Given the description of an element on the screen output the (x, y) to click on. 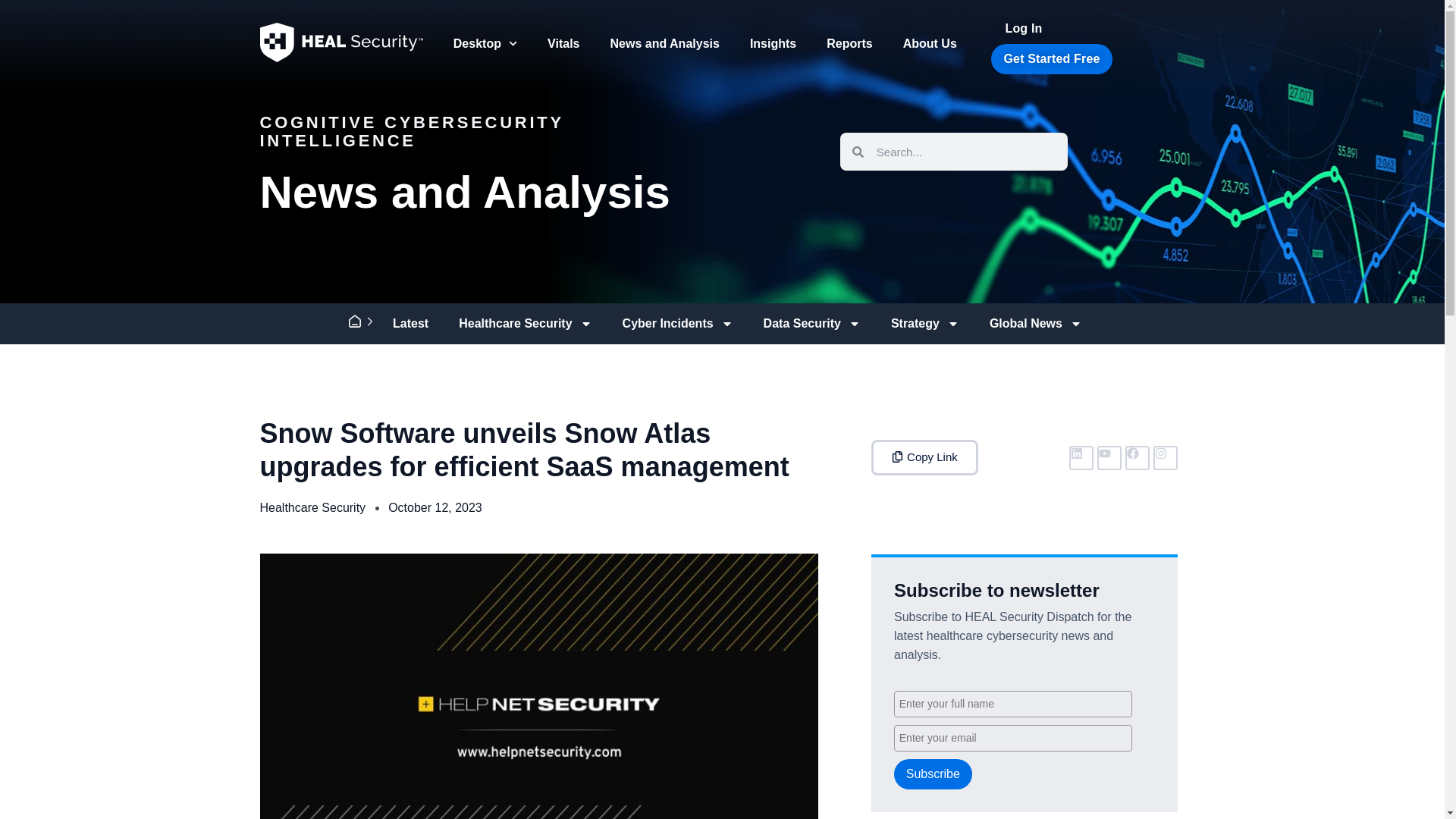
Insights (772, 42)
Log In (1023, 28)
Vitals (563, 42)
News and Analysis (665, 42)
Desktop (485, 42)
Get Started Free (1051, 59)
About Us (930, 42)
Reports (848, 42)
